Given the description of an element on the screen output the (x, y) to click on. 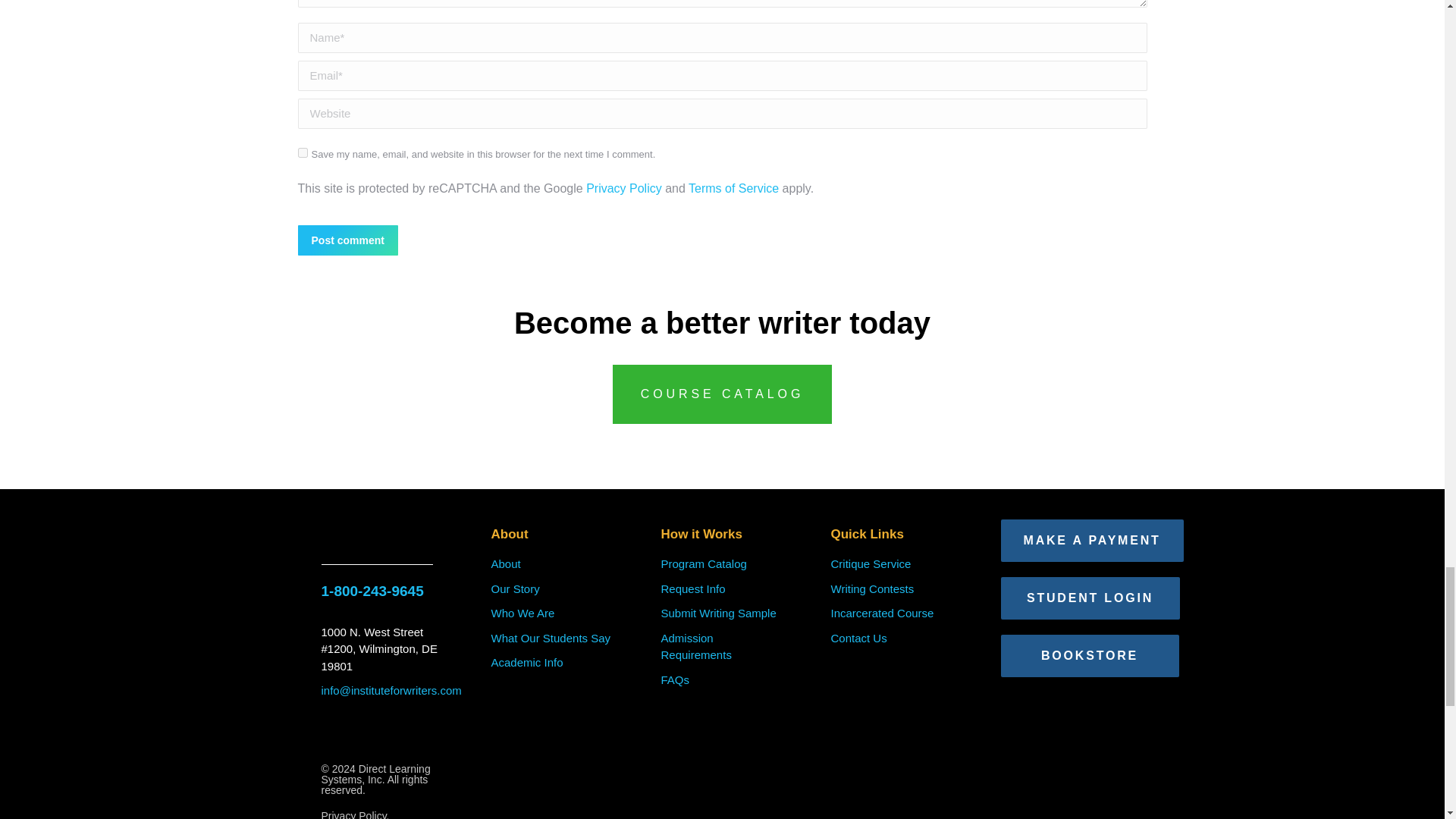
IFW-Instagram.png (385, 740)
IFW-Podcast.png (415, 740)
yes (302, 153)
IFW-Facebook-1.png (323, 740)
